Given the description of an element on the screen output the (x, y) to click on. 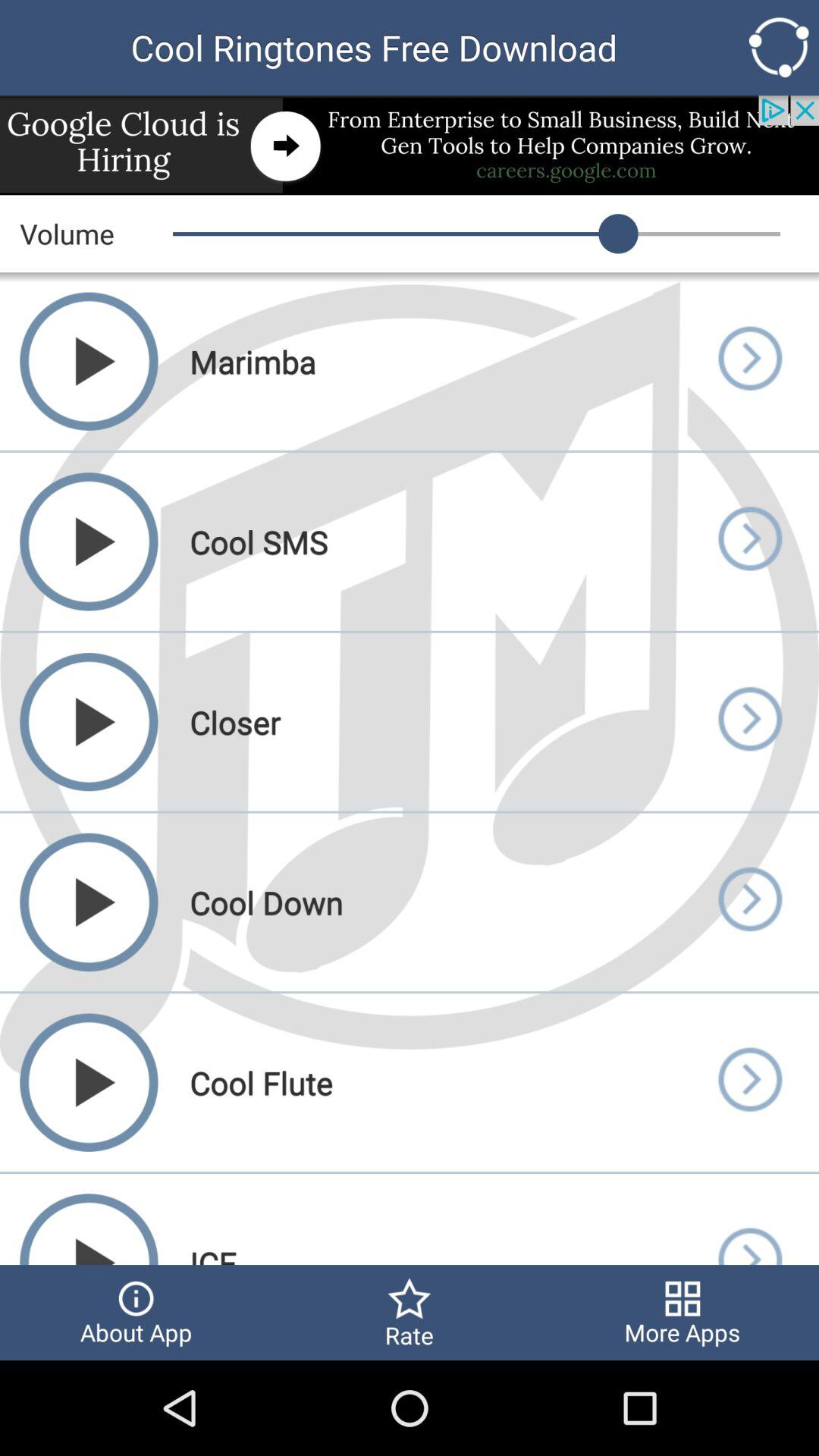
play song (749, 902)
